Given the description of an element on the screen output the (x, y) to click on. 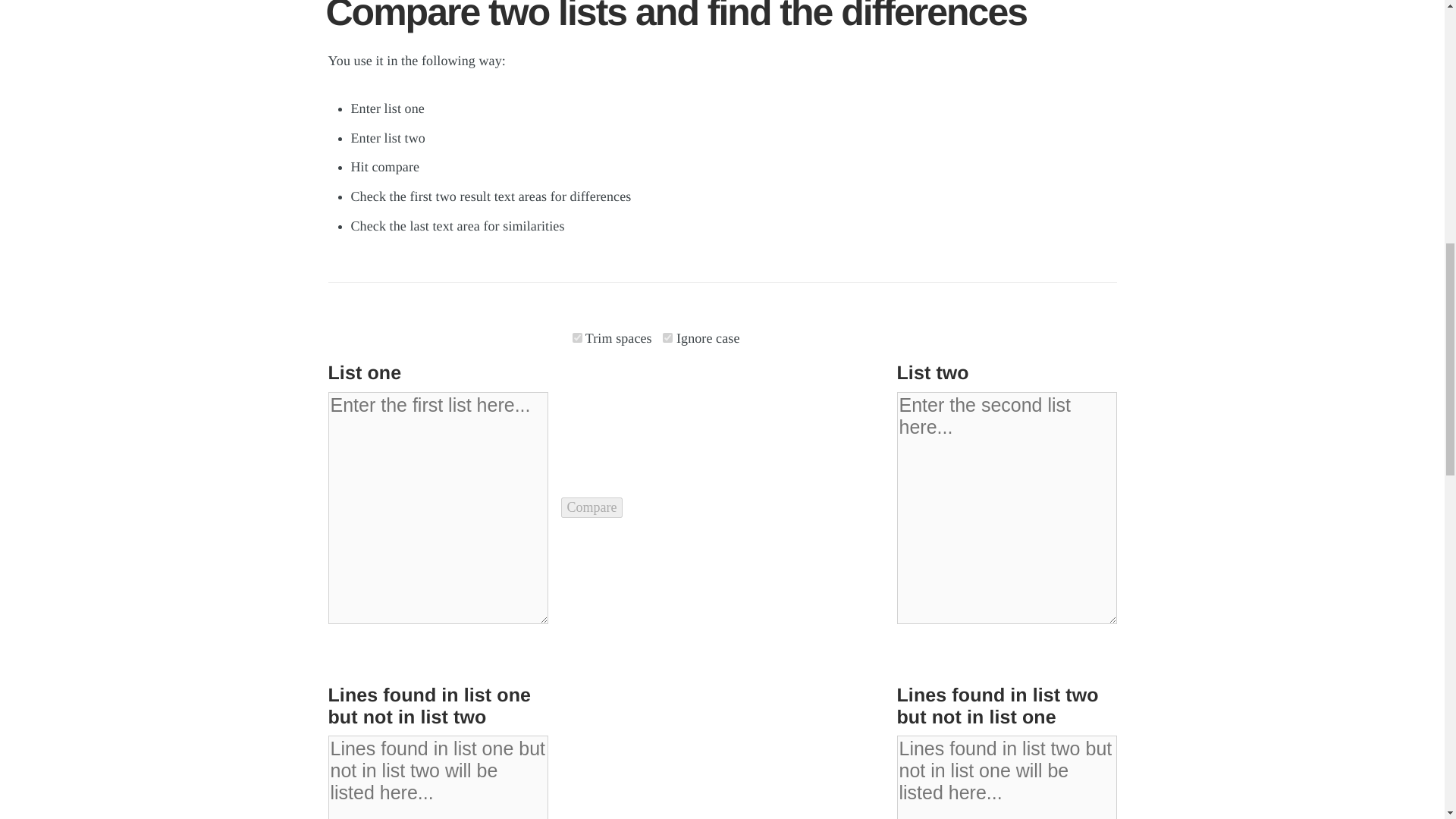
Ignore case (667, 337)
Trim spaces (576, 337)
Compare (591, 507)
